Given the description of an element on the screen output the (x, y) to click on. 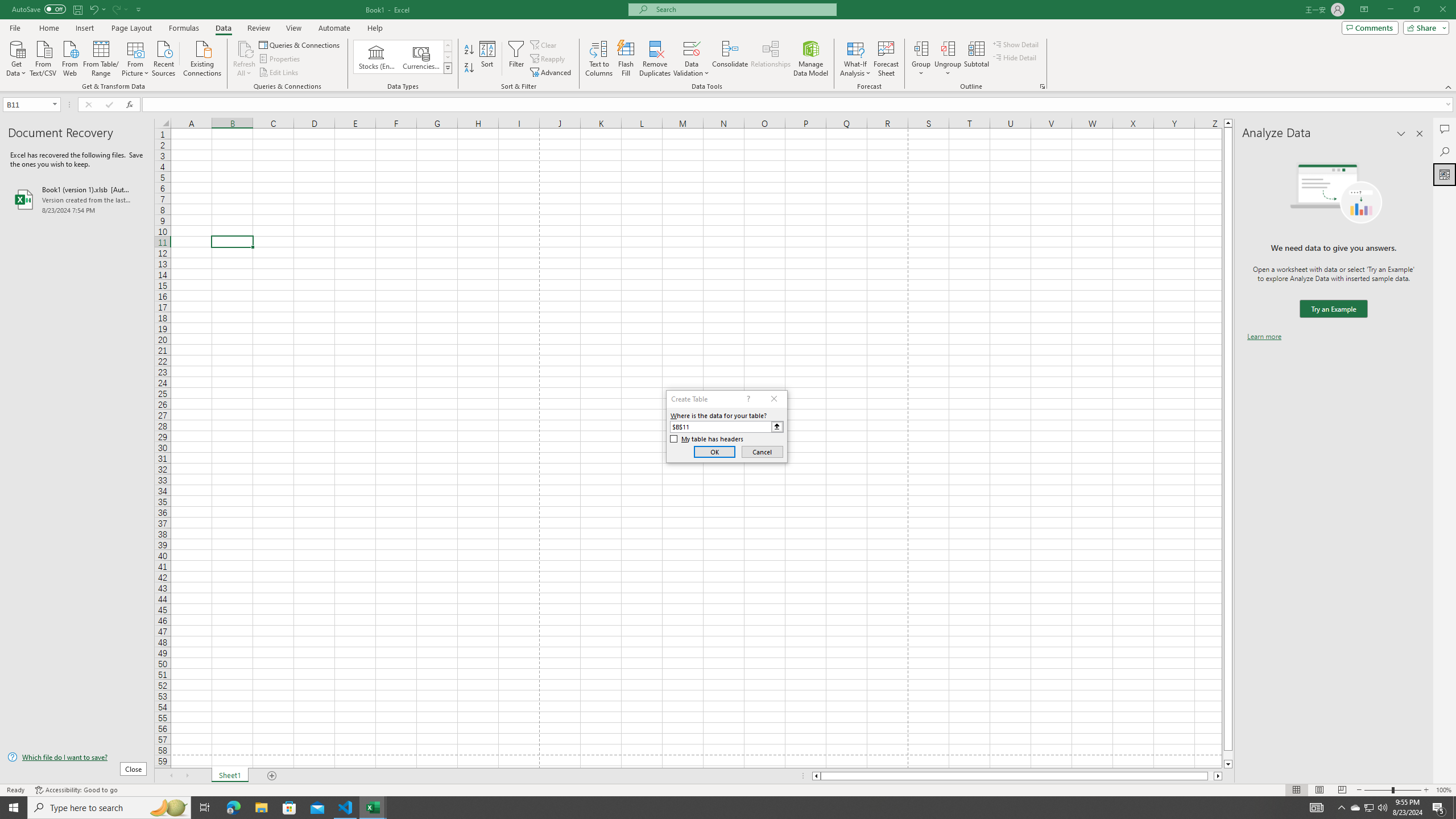
Clear (544, 44)
From Picture (135, 57)
Sort A to Z (469, 49)
What-If Analysis (855, 58)
Page right (1211, 775)
Scroll Left (171, 775)
Manage Data Model (810, 58)
Undo (92, 9)
Save (77, 9)
Page Layout (1318, 790)
Relationships (770, 58)
Ungroup... (947, 48)
Consolidate... (729, 58)
Page Layout (131, 28)
